Given the description of an element on the screen output the (x, y) to click on. 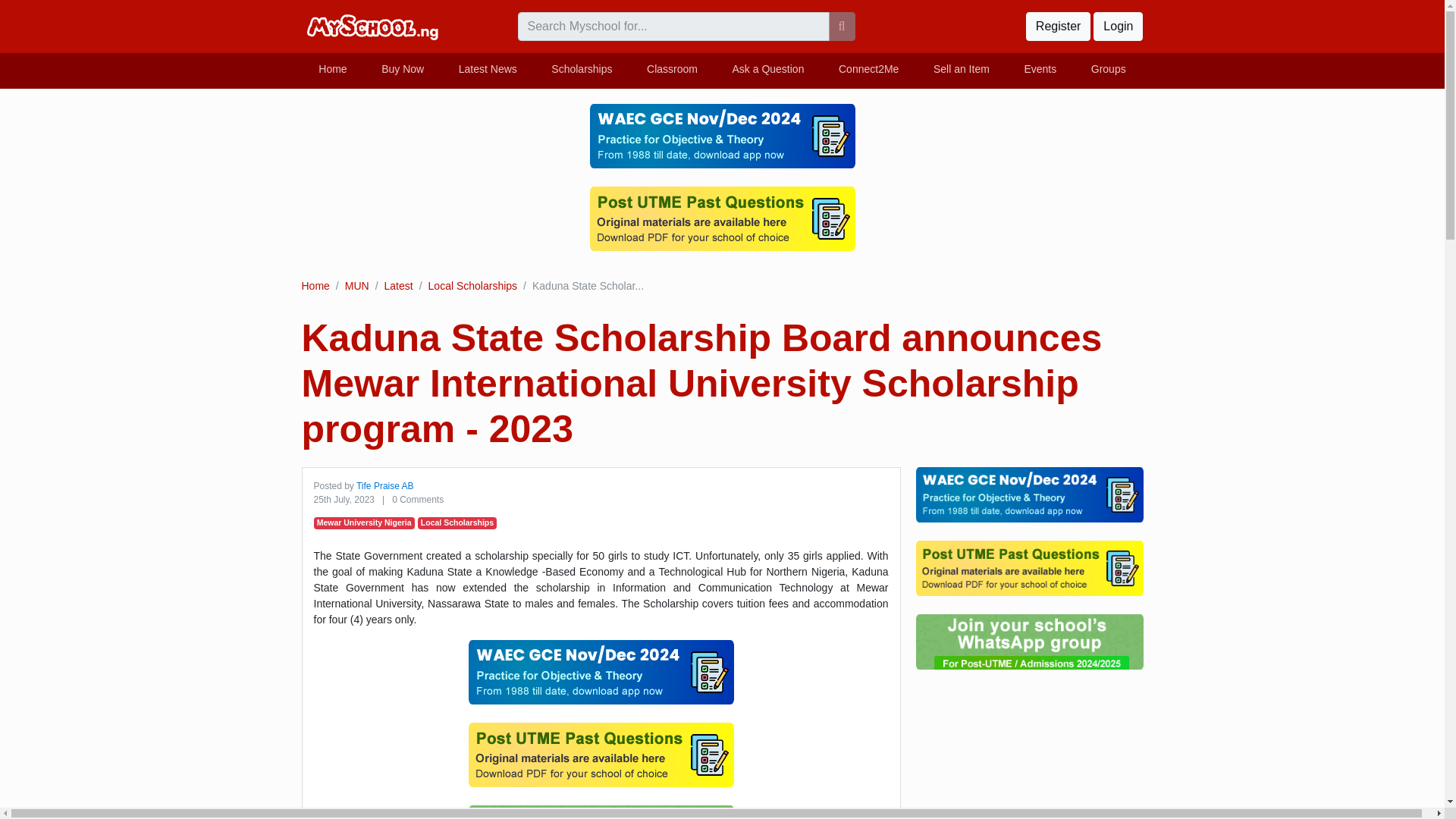
Home (333, 70)
Register (1058, 26)
Login (1117, 26)
Buy Now (402, 70)
Latest News (487, 70)
